Given the description of an element on the screen output the (x, y) to click on. 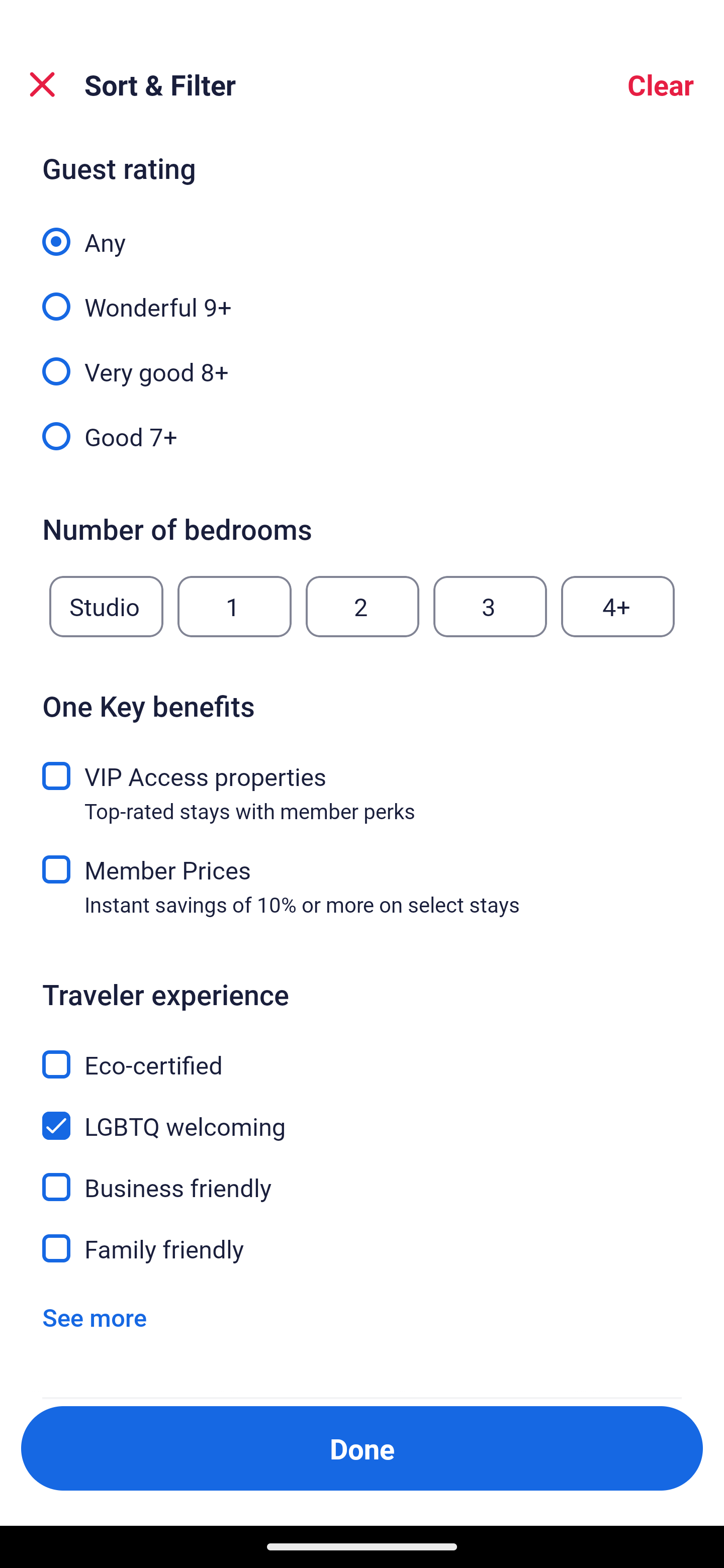
Close Sort and Filter (42, 84)
Clear (660, 84)
Wonderful 9+ (361, 295)
Very good 8+ (361, 360)
Good 7+ (361, 434)
Studio (106, 606)
1 (234, 606)
2 (362, 606)
3 (490, 606)
4+ (617, 606)
Eco-certified, Eco-certified (361, 1052)
LGBTQ welcoming, LGBTQ welcoming (361, 1113)
Business friendly, Business friendly (361, 1175)
Family friendly, Family friendly (361, 1248)
See more See more traveler experience options Link (93, 1316)
Apply and close Sort and Filter Done (361, 1448)
